Given the description of an element on the screen output the (x, y) to click on. 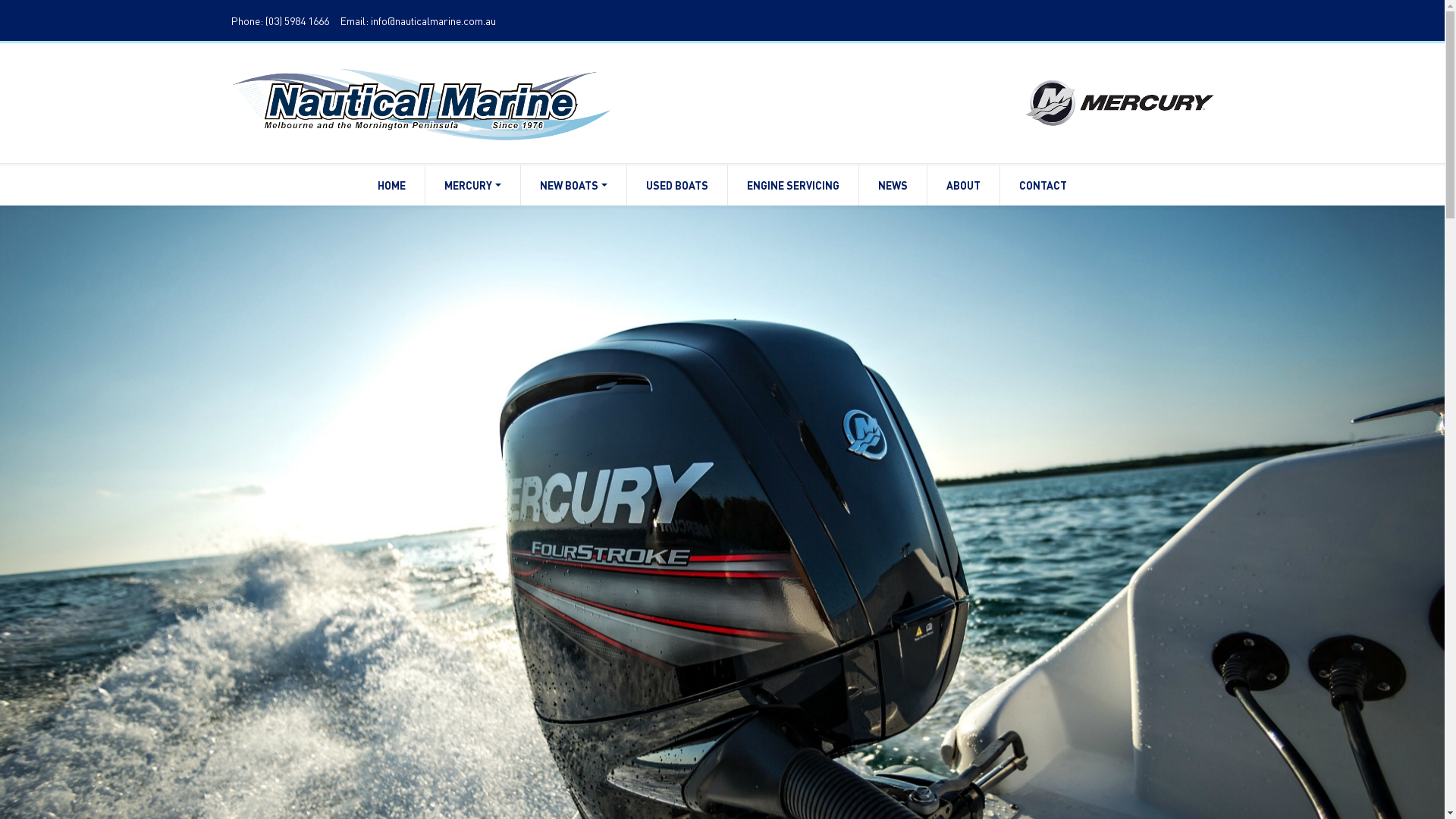
MERCURY Element type: text (472, 185)
ENGINE SERVICING Element type: text (793, 185)
Phone: (03) 5984 1666 Element type: text (279, 20)
USED BOATS Element type: text (677, 185)
NEWS Element type: text (892, 185)
Email: info@nauticalmarine.com.au Element type: text (417, 20)
ABOUT Element type: text (963, 185)
... Element type: hover (419, 99)
NEW BOATS Element type: text (573, 185)
CONTACT Element type: text (1042, 185)
HOME Element type: text (391, 185)
